Given the description of an element on the screen output the (x, y) to click on. 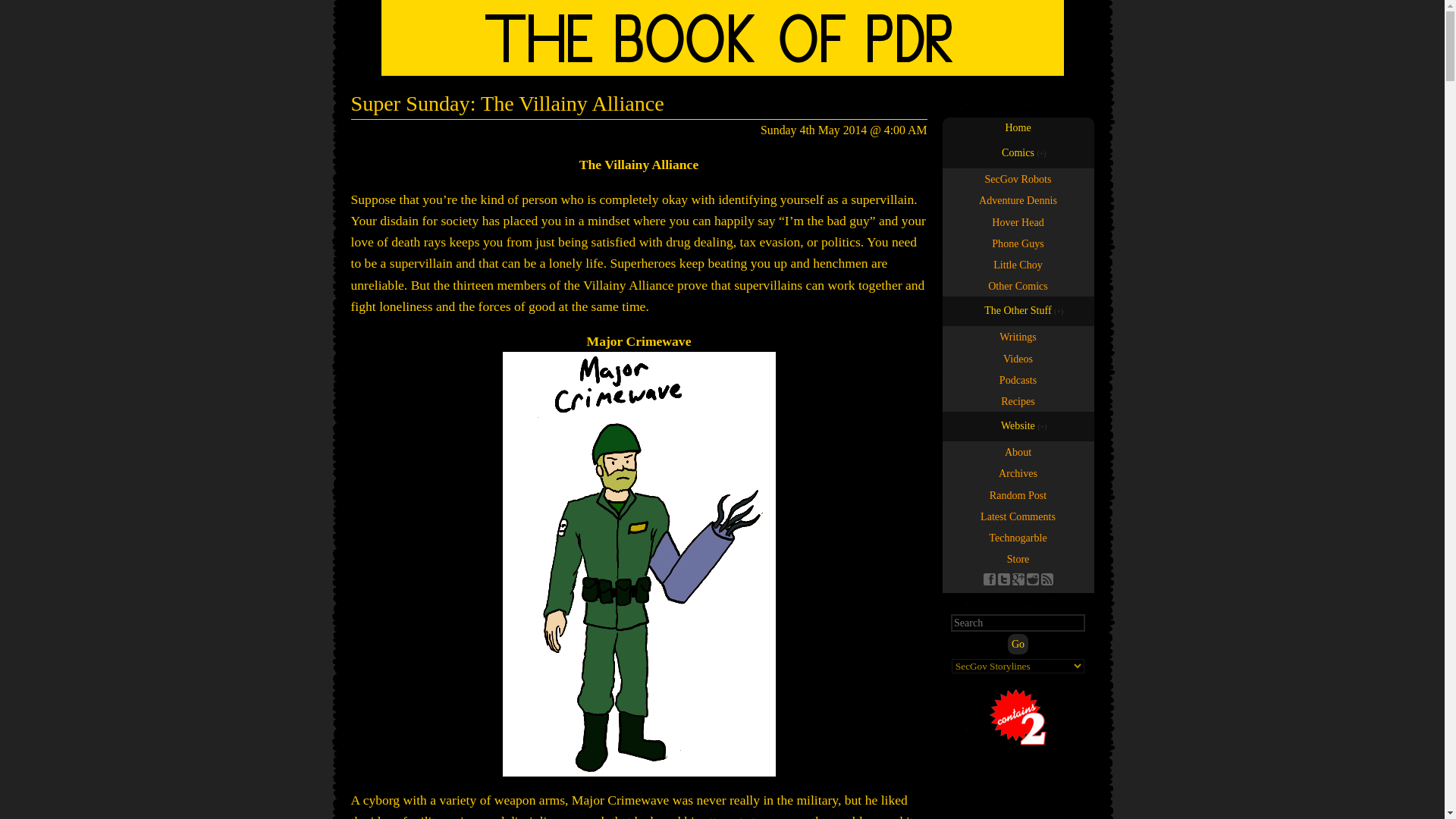
Recipes (722, 38)
Technogarble (1017, 400)
SecGov Robots (1017, 537)
FB (1017, 178)
Home (988, 579)
Videos (1018, 127)
Random Post (1017, 358)
About (1017, 494)
Writings (1017, 451)
Little Choy (1017, 336)
Go (1017, 264)
Phone Guys (1017, 643)
Podcasts (1017, 242)
Hover Head (1017, 379)
